Given the description of an element on the screen output the (x, y) to click on. 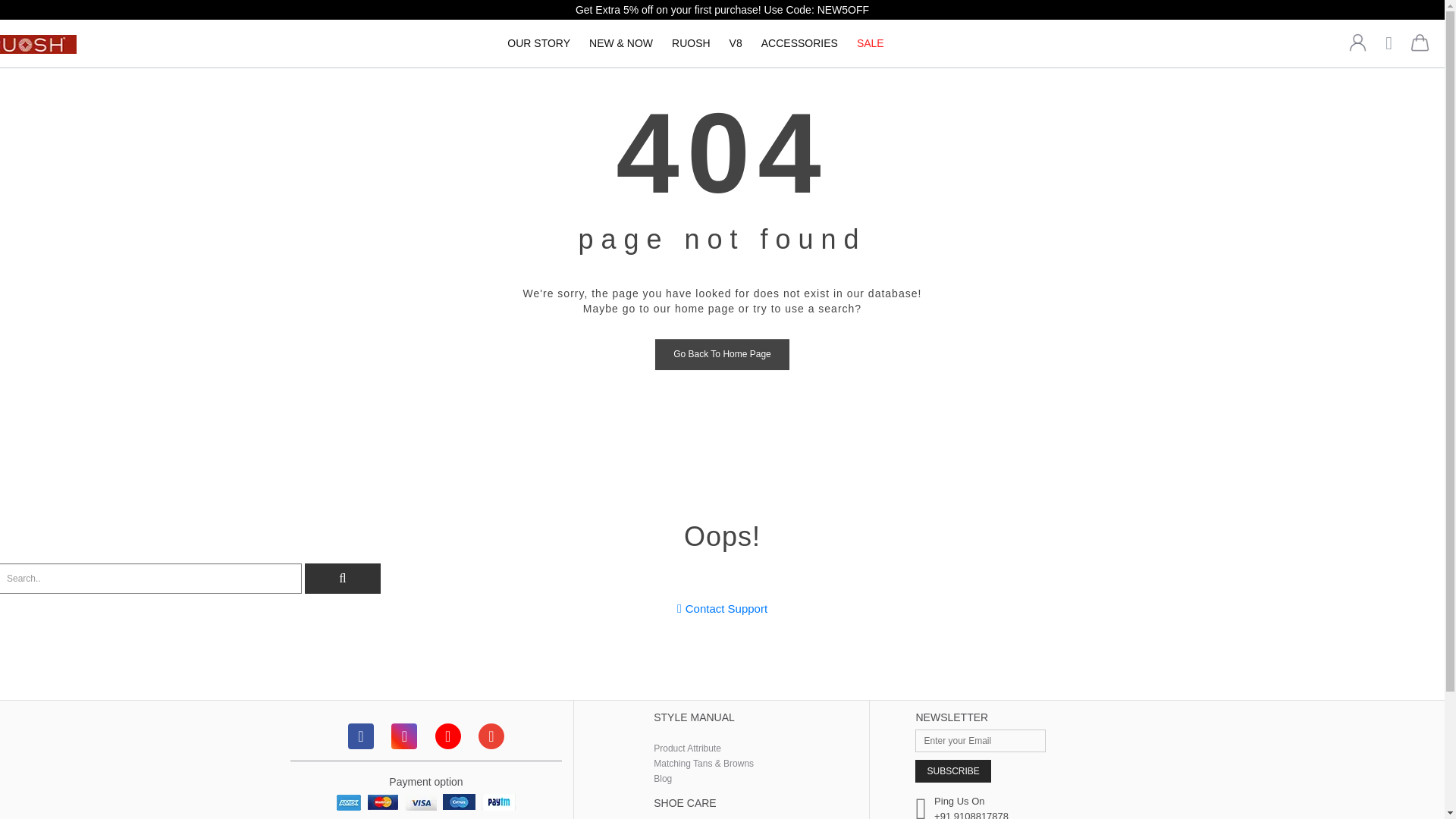
Cart (1417, 46)
ACCESSORIES (799, 42)
RUOSH (690, 42)
OUR STORY (538, 42)
